Given the description of an element on the screen output the (x, y) to click on. 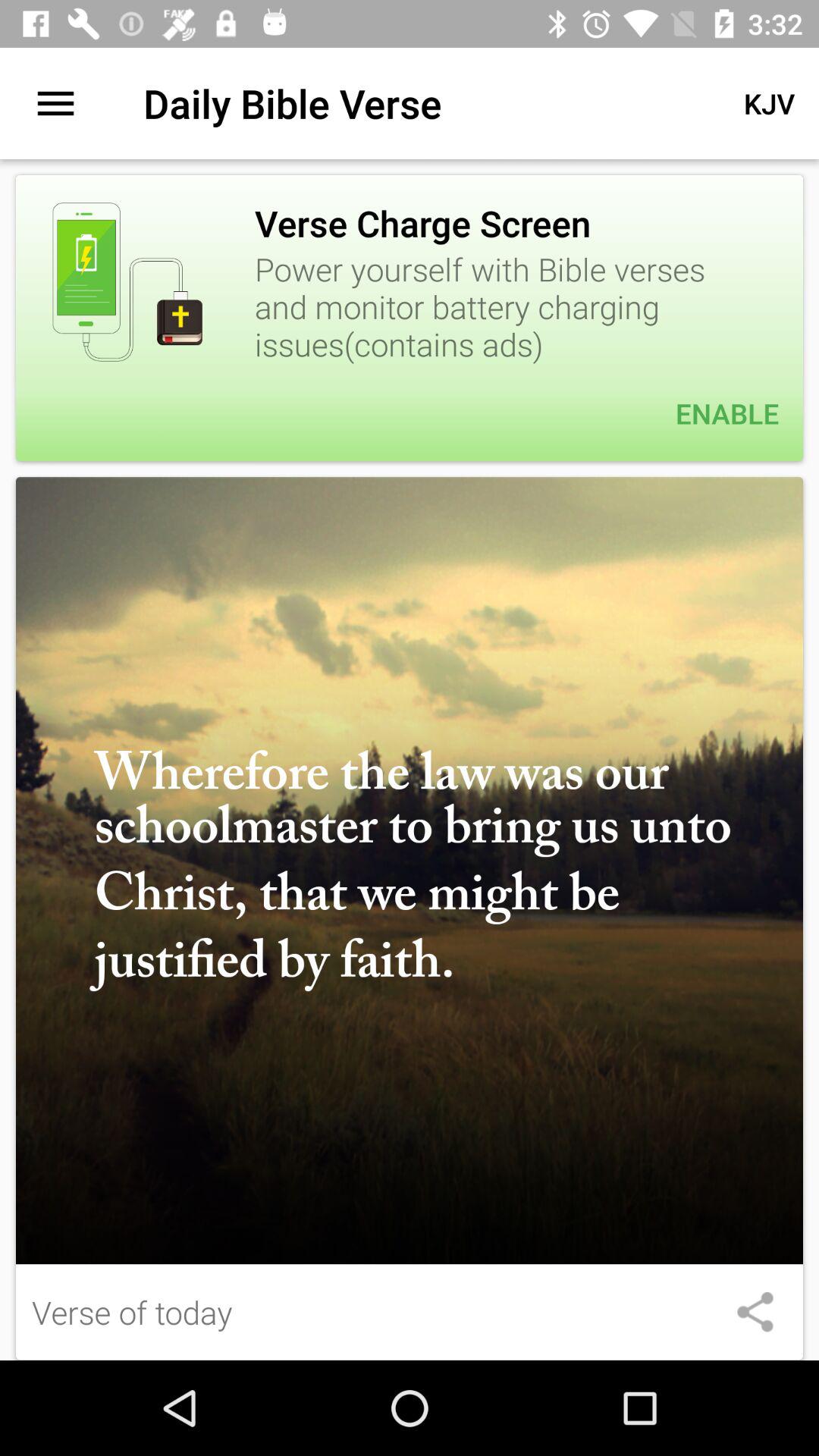
share the article (755, 1311)
